Given the description of an element on the screen output the (x, y) to click on. 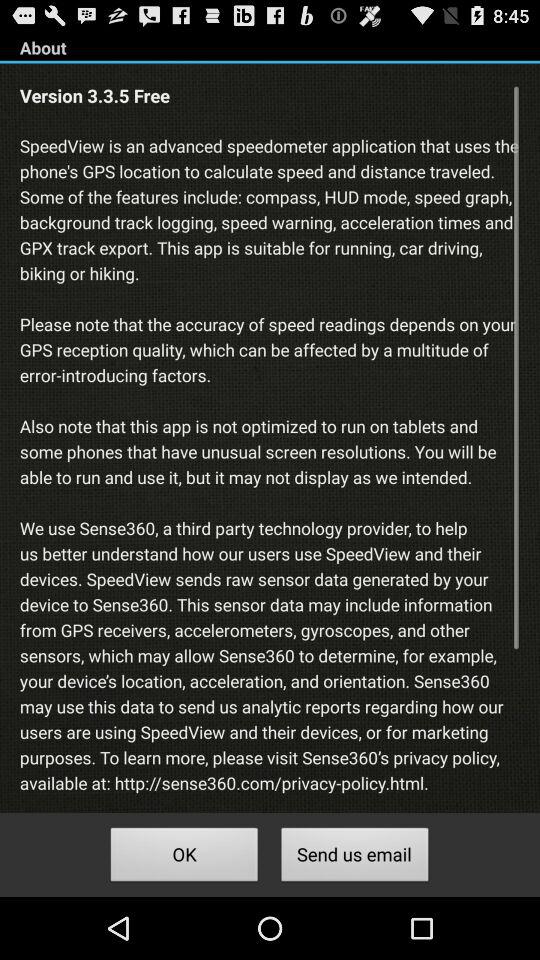
turn on the ok (184, 857)
